Given the description of an element on the screen output the (x, y) to click on. 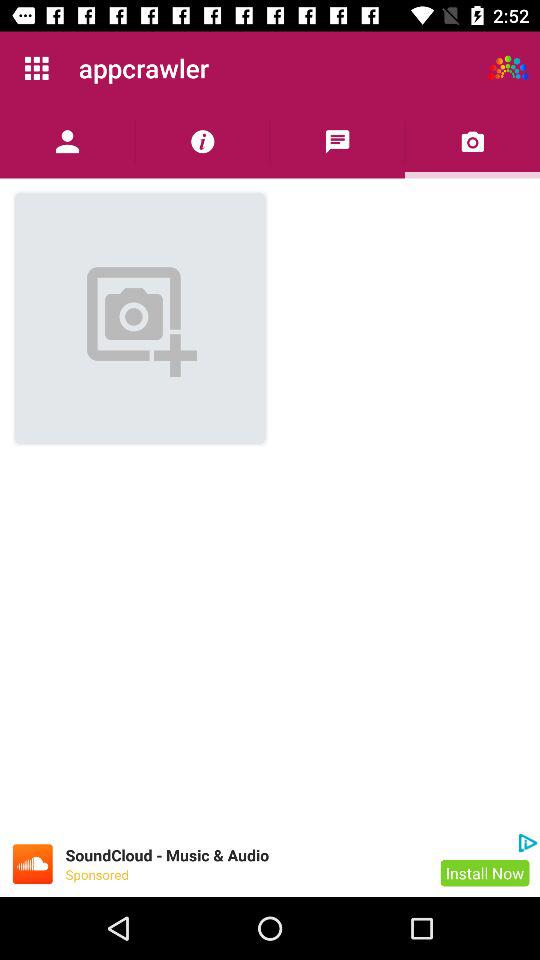
icon to go to advertisement (32, 863)
